Given the description of an element on the screen output the (x, y) to click on. 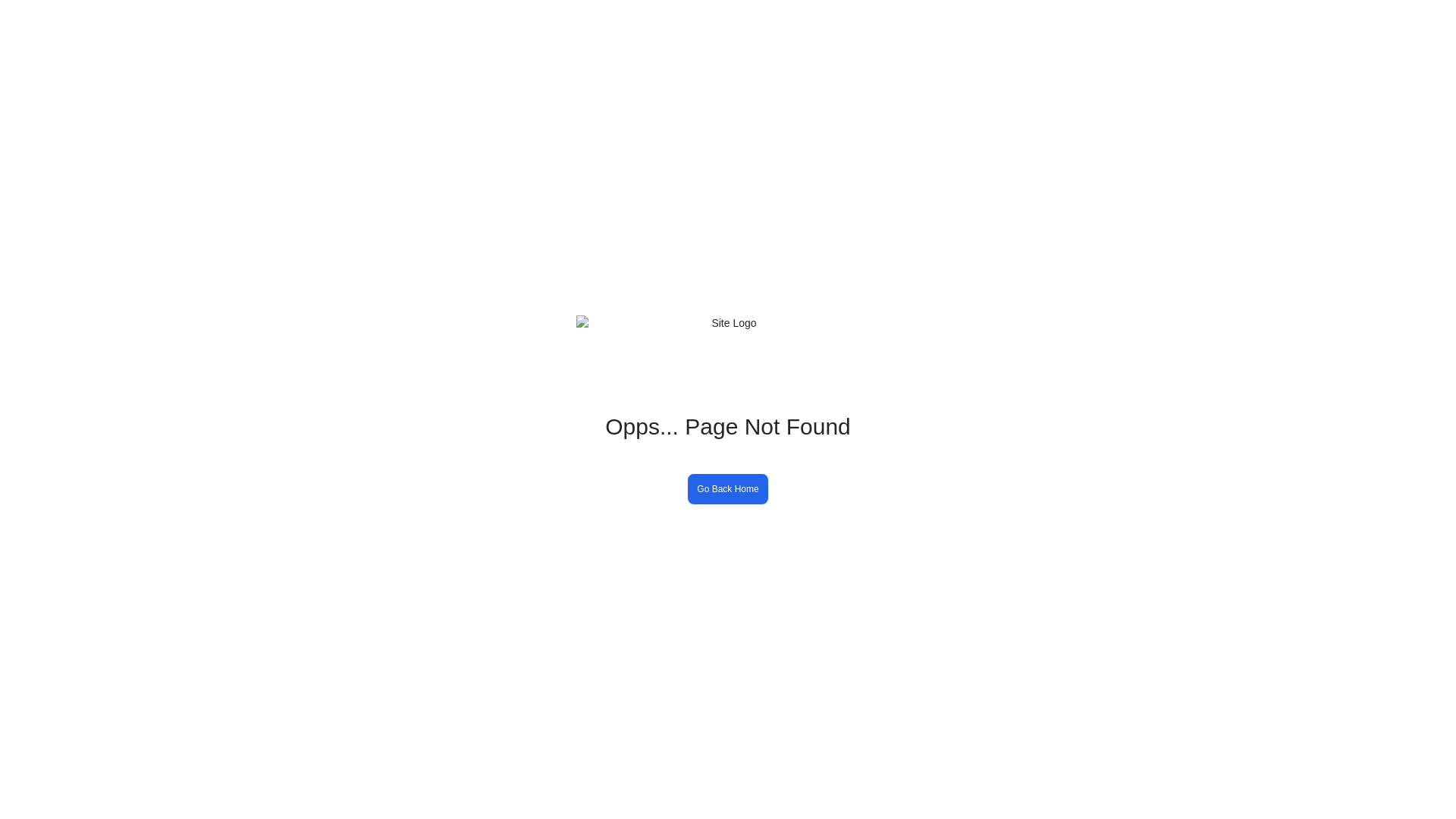
Go Back Home Element type: text (727, 488)
